Given the description of an element on the screen output the (x, y) to click on. 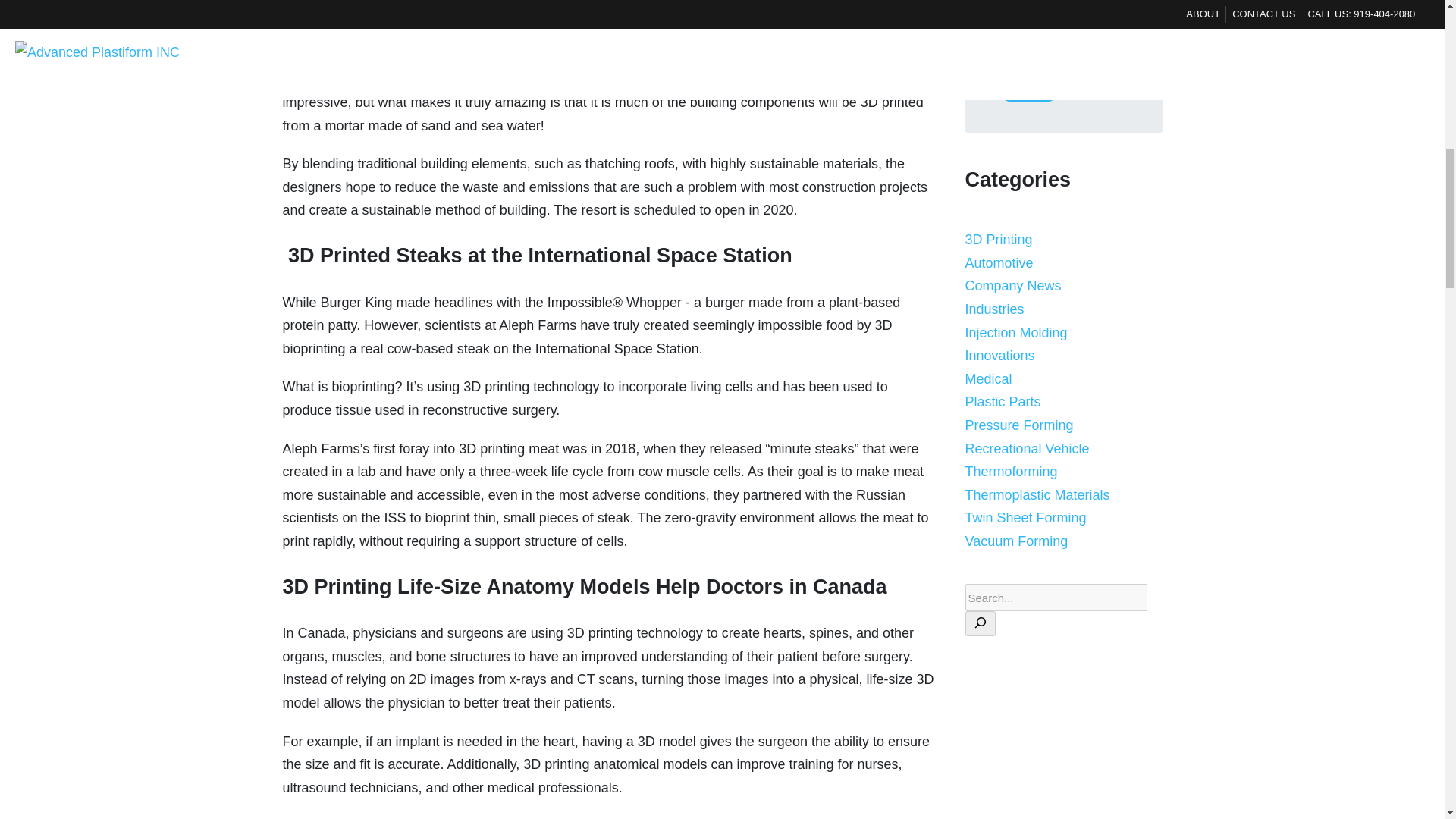
Submit Form (1027, 84)
